Given the description of an element on the screen output the (x, y) to click on. 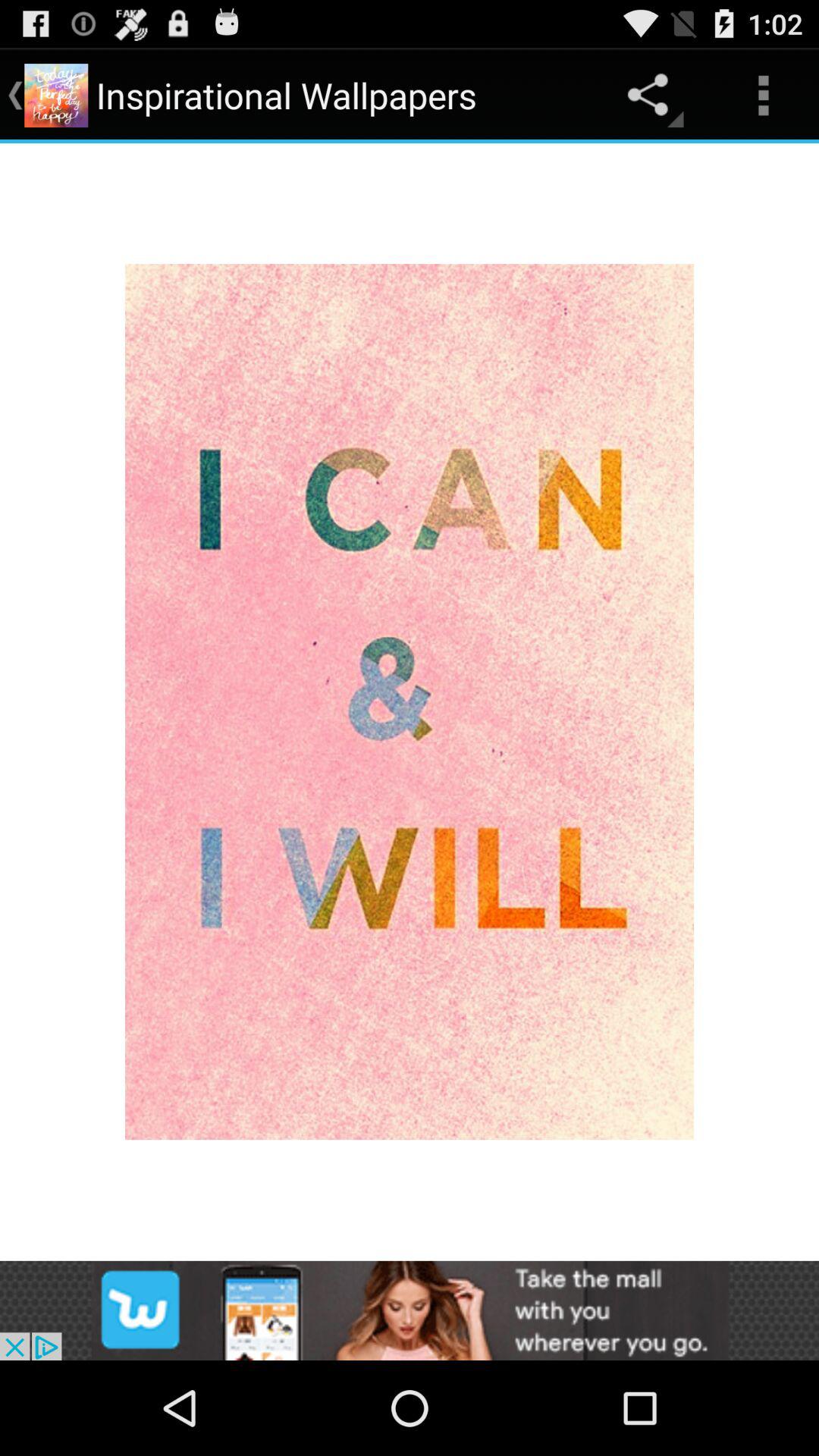
visit the advertisement 's website (409, 1310)
